Given the description of an element on the screen output the (x, y) to click on. 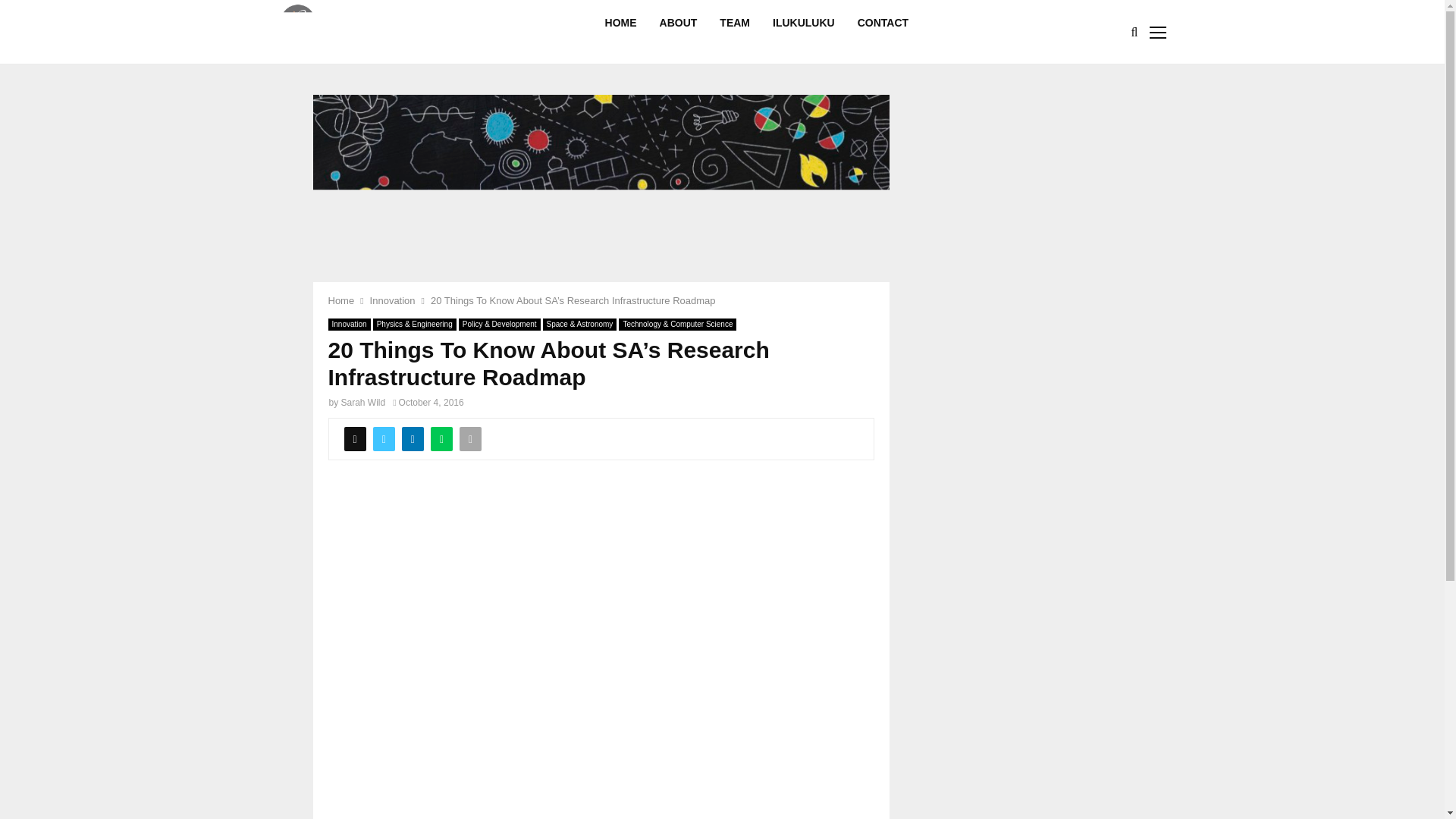
Home (340, 300)
Innovation (391, 300)
Innovation (348, 324)
Sarah Wild (362, 402)
ILUKULUKU (803, 32)
